Given the description of an element on the screen output the (x, y) to click on. 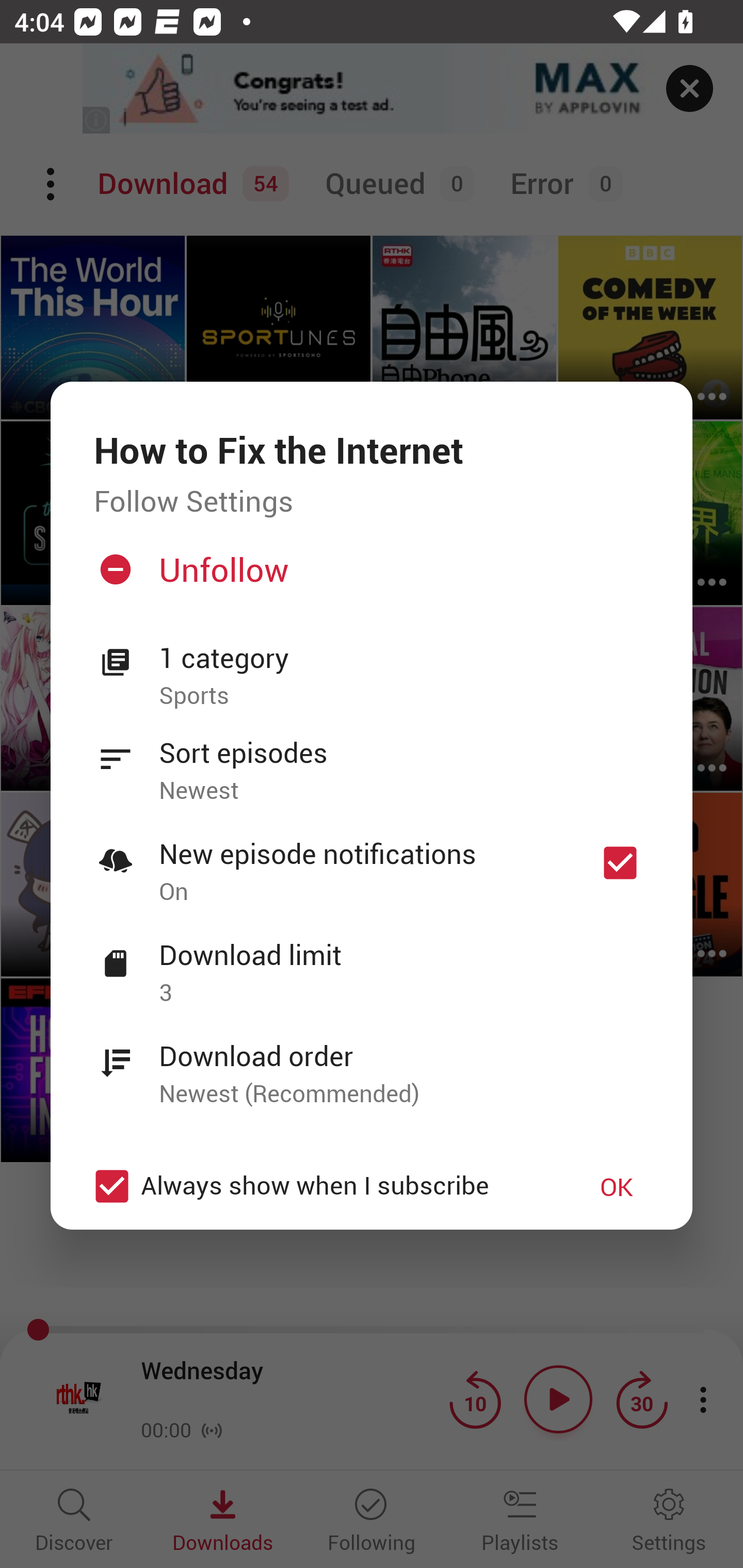
Unfollow (369, 576)
1 category (404, 658)
Sports (404, 696)
Sort episodes Newest (371, 760)
New episode notifications (620, 863)
Download limit 3 (371, 962)
Download order Newest (Recommended) (371, 1063)
OK (616, 1186)
Always show when I subscribe (320, 1186)
